Given the description of an element on the screen output the (x, y) to click on. 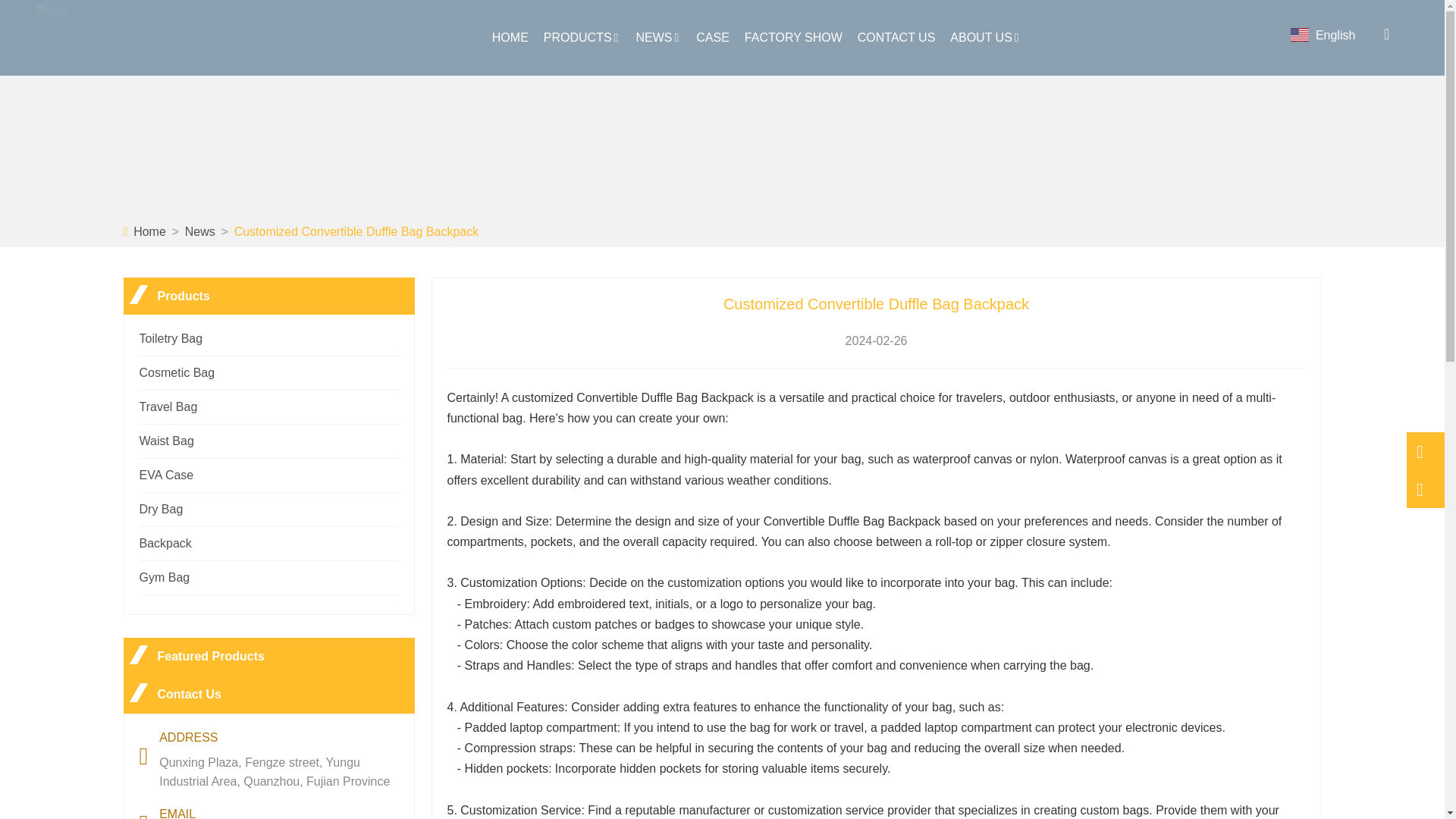
FACTORY SHOW (793, 37)
NEWS (657, 37)
ABOUT US (985, 37)
CASE (713, 37)
CONTACT US (896, 37)
PRODUCTS (582, 37)
HOME (509, 37)
